Given the description of an element on the screen output the (x, y) to click on. 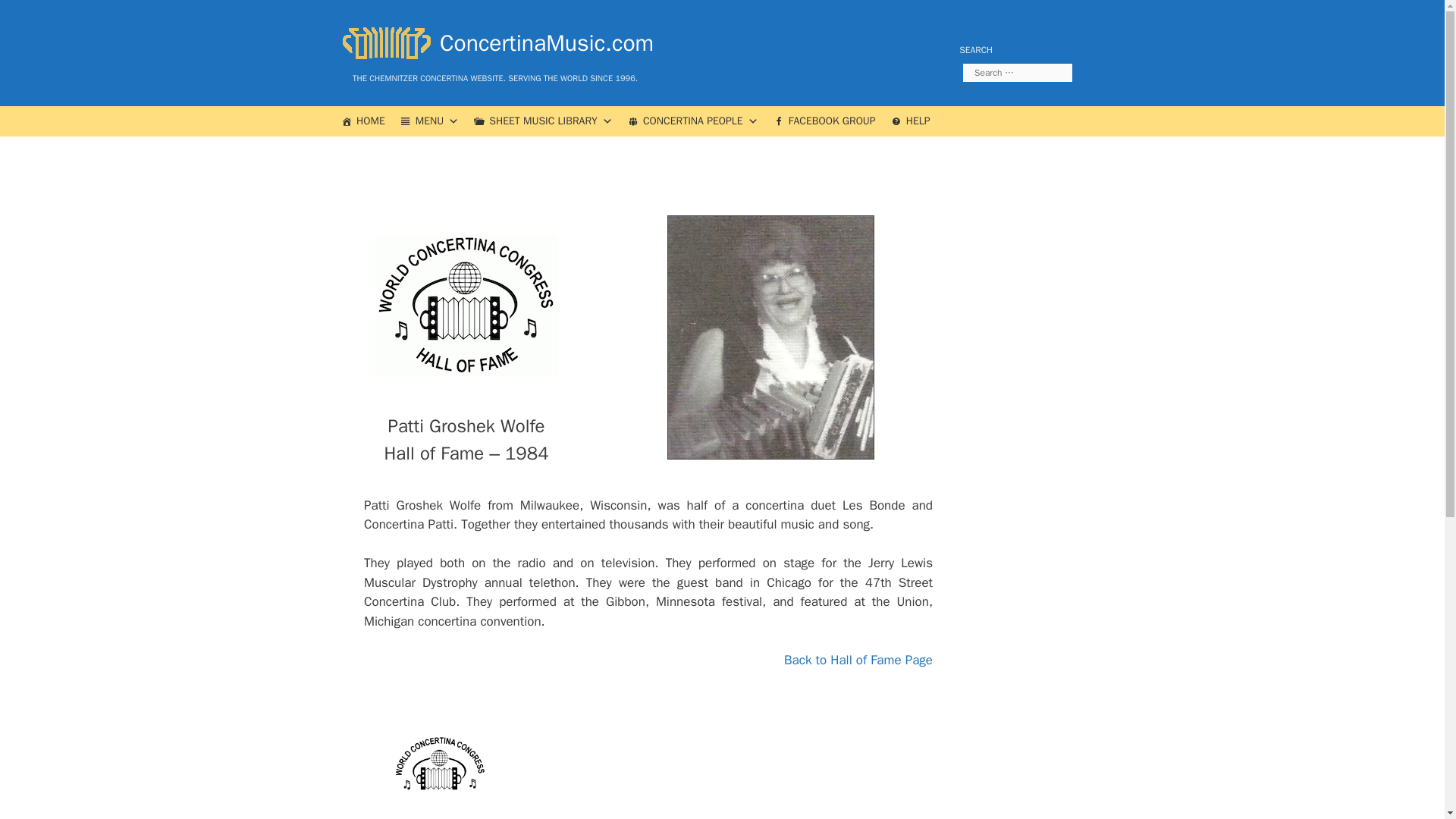
HOME (363, 121)
MENU (430, 121)
Search (35, 18)
Search for: (1016, 72)
SHEET MUSIC LIBRARY (542, 121)
ConcertinaMusic.com (493, 42)
